Given the description of an element on the screen output the (x, y) to click on. 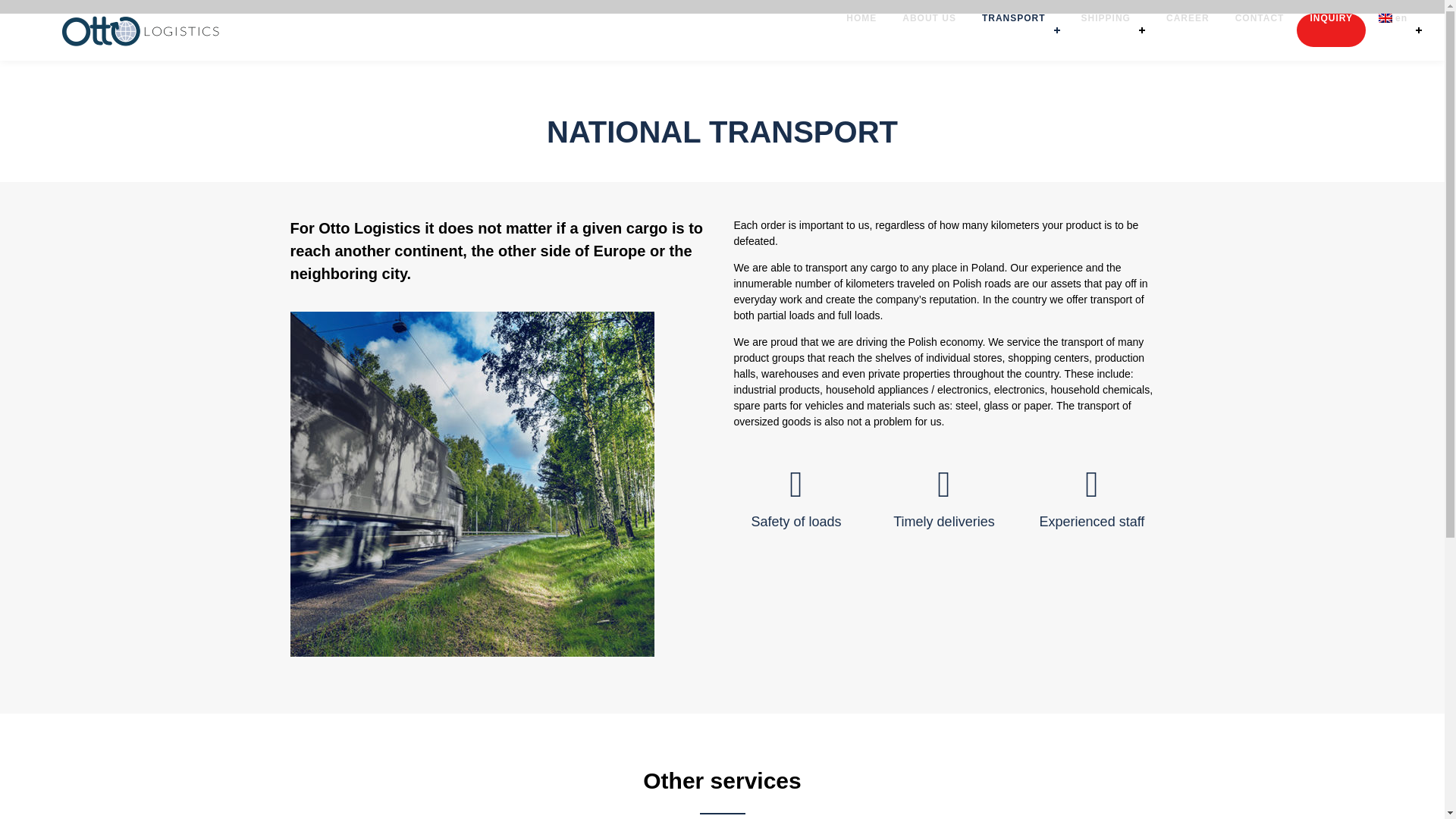
Do oclenia (367, 22)
HOME (860, 29)
ADR (376, 50)
Send (1104, 352)
0003 (471, 484)
Send (1104, 352)
HDS (456, 22)
TIR cords (293, 50)
CONTACT (1260, 29)
TRANSPORT (1018, 29)
